Given the description of an element on the screen output the (x, y) to click on. 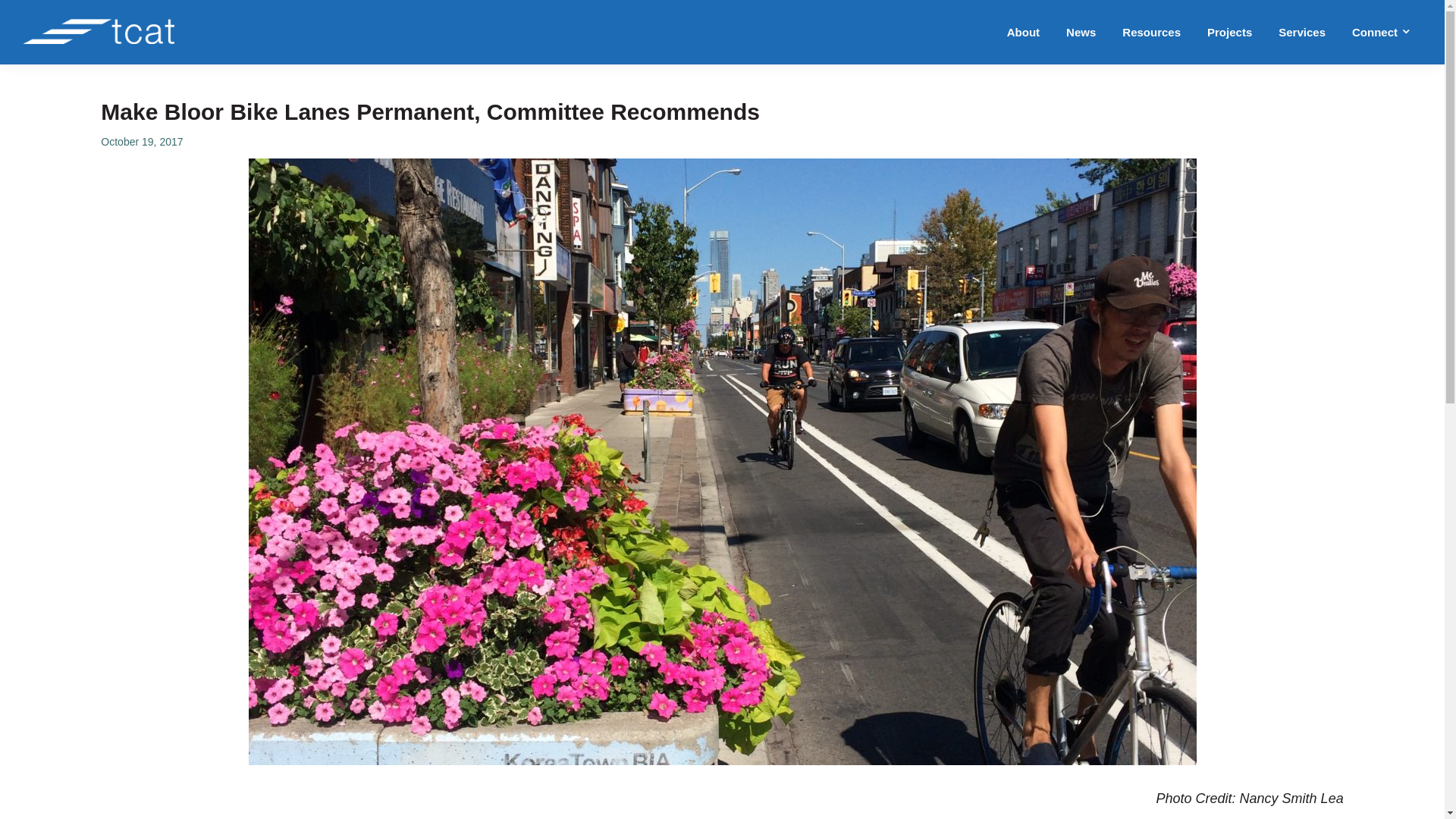
The Centre for Active Transportation (76, 81)
Resources (1151, 32)
Projects (1229, 32)
Services (1301, 32)
Connect (1381, 32)
